Given the description of an element on the screen output the (x, y) to click on. 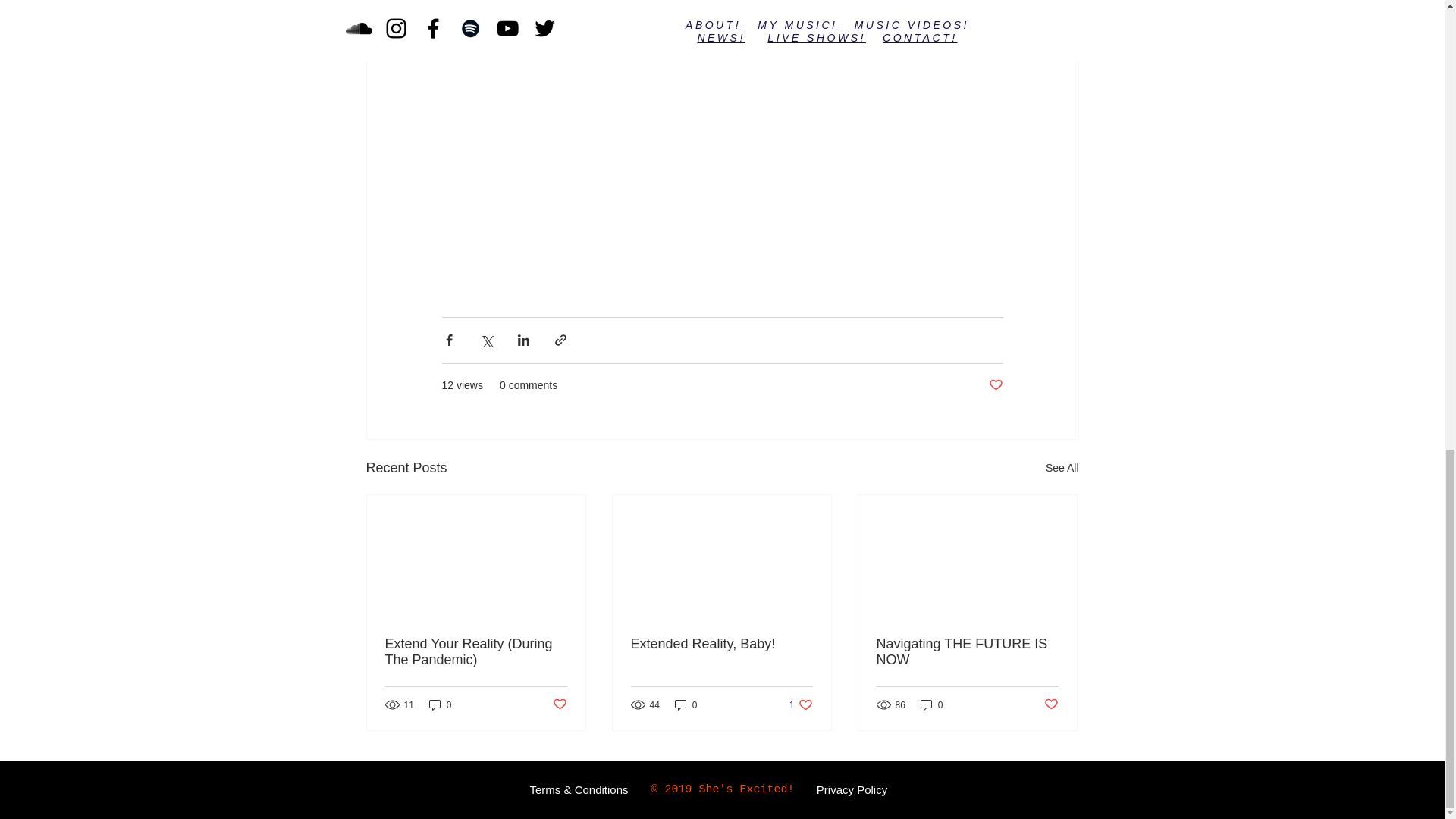
Post not marked as liked (558, 704)
Navigating THE FUTURE IS NOW (967, 652)
0 (685, 704)
Post not marked as liked (995, 385)
0 (440, 704)
Post not marked as liked (1050, 704)
Extended Reality, Baby! (800, 704)
See All (721, 643)
Privacy Policy (1061, 468)
0 (851, 789)
